Given the description of an element on the screen output the (x, y) to click on. 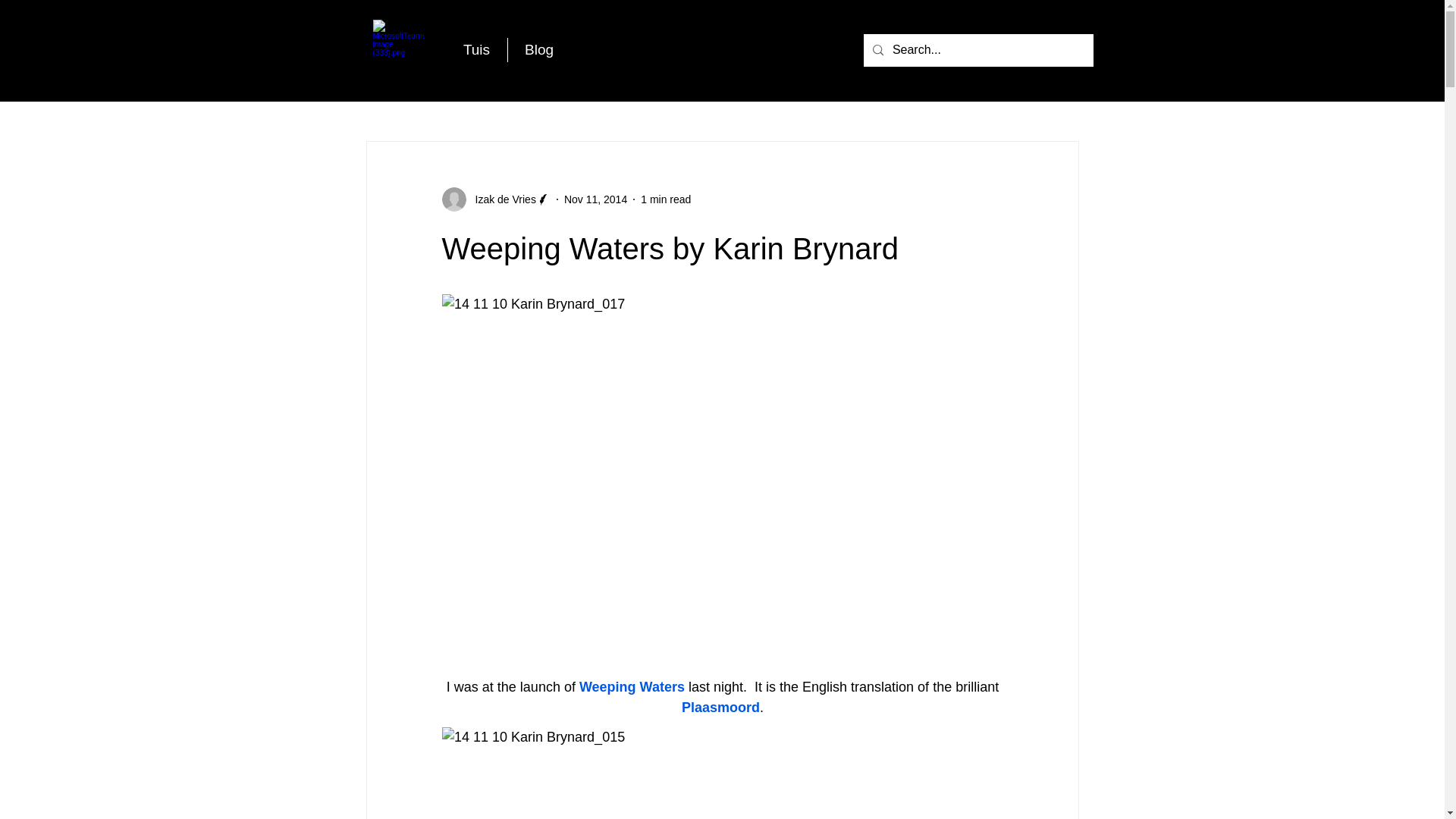
1 min read (665, 198)
Nov 11, 2014 (595, 198)
Blog (539, 49)
Weeping Waters (631, 686)
Plaasmoord (719, 707)
 Izak de Vries (500, 198)
Tuis (475, 49)
